Given the description of an element on the screen output the (x, y) to click on. 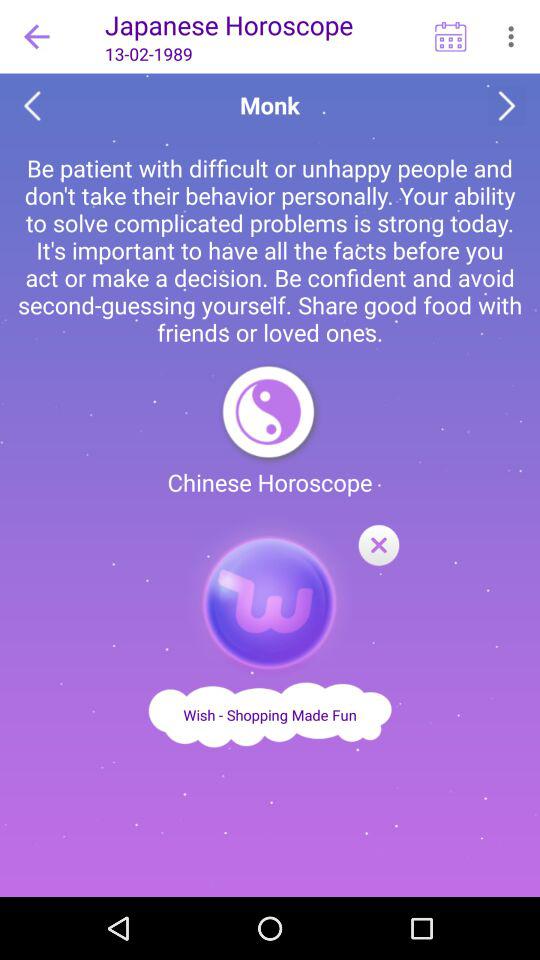
go to calendar (450, 36)
